Given the description of an element on the screen output the (x, y) to click on. 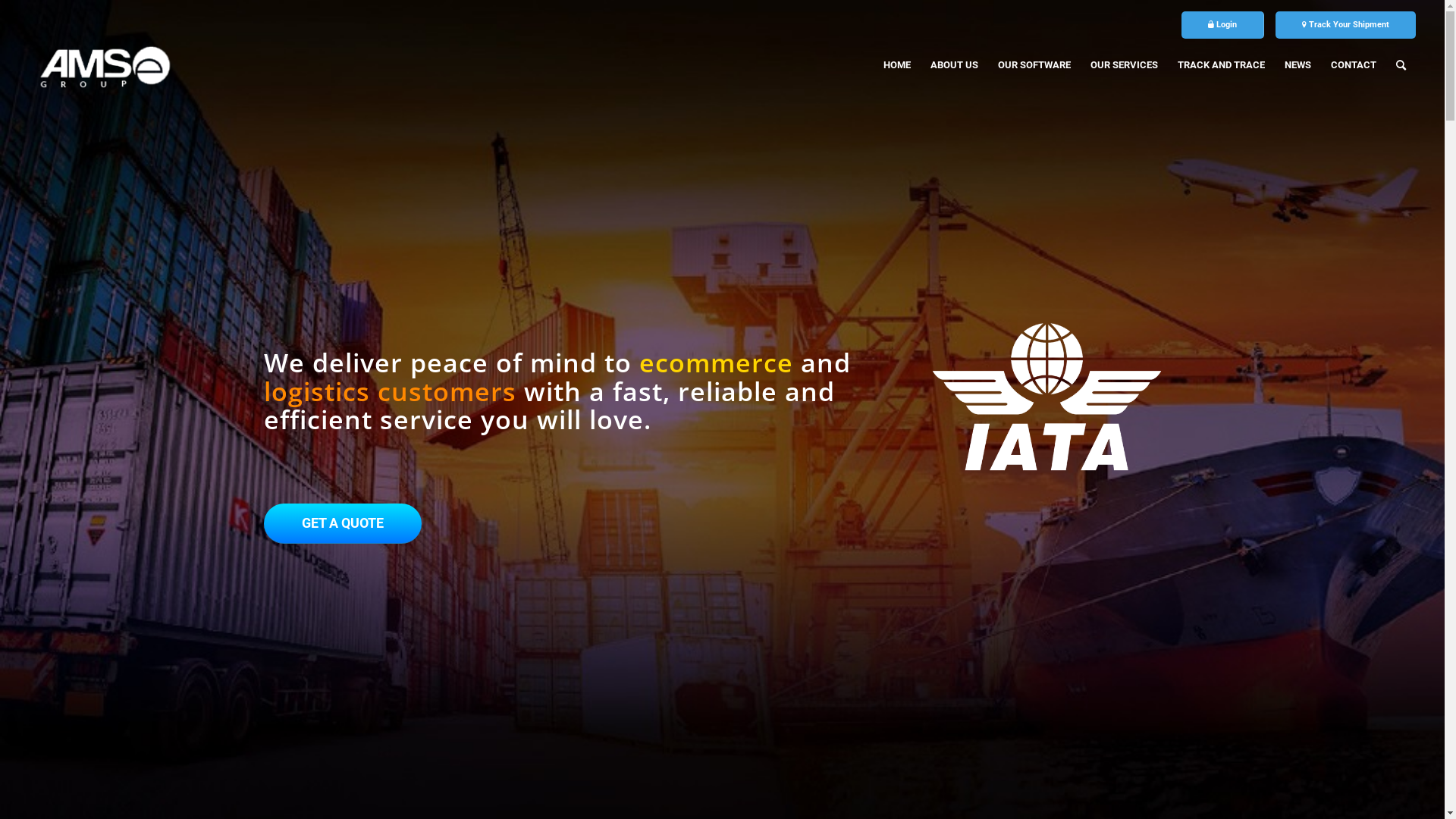
ams-group-logo-white Element type: hover (104, 64)
NEWS Element type: text (1297, 65)
Track Your Shipment Element type: text (1345, 24)
CONTACT Element type: text (1353, 65)
IATA Element type: hover (1046, 397)
OUR SERVICES Element type: text (1123, 65)
GET A QUOTE Element type: text (342, 523)
Login Element type: text (1222, 24)
OUR SOFTWARE Element type: text (1034, 65)
HOME Element type: text (896, 65)
ABOUT US Element type: text (954, 65)
TRACK AND TRACE Element type: text (1220, 65)
